Given the description of an element on the screen output the (x, y) to click on. 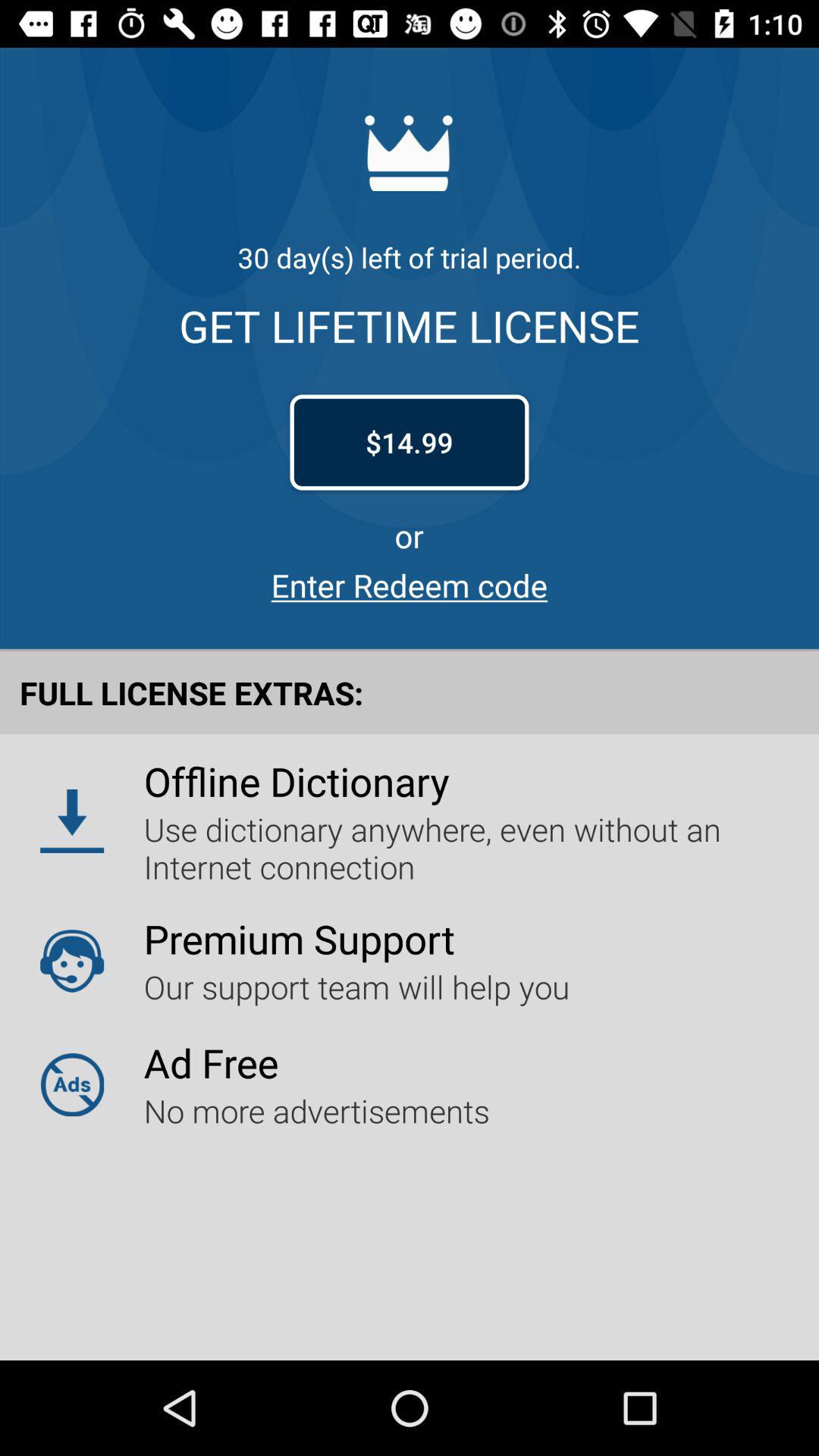
scroll until the enter redeem code (409, 584)
